Given the description of an element on the screen output the (x, y) to click on. 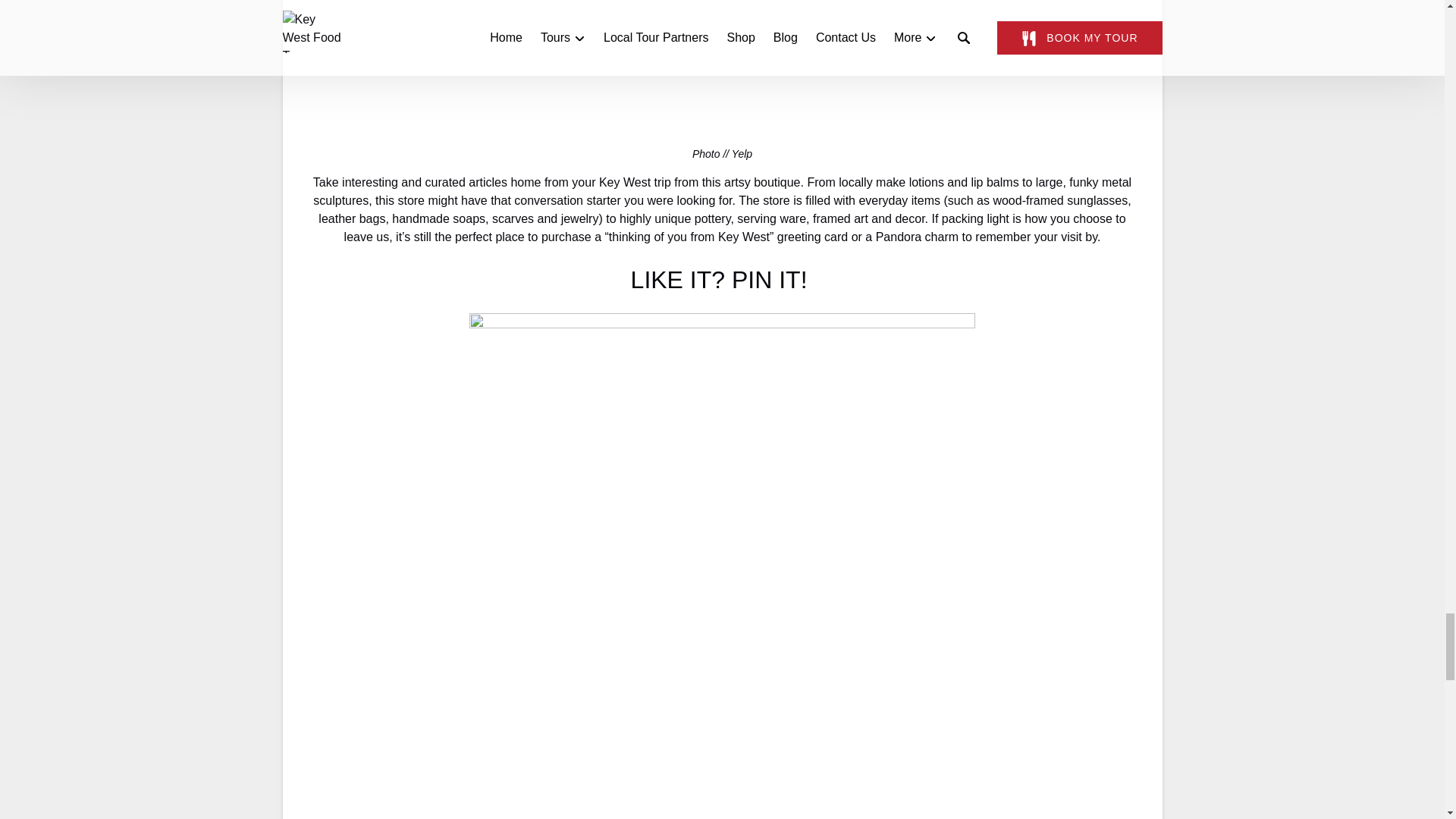
LIKE IT? PIN IT!  (721, 279)
